Given the description of an element on the screen output the (x, y) to click on. 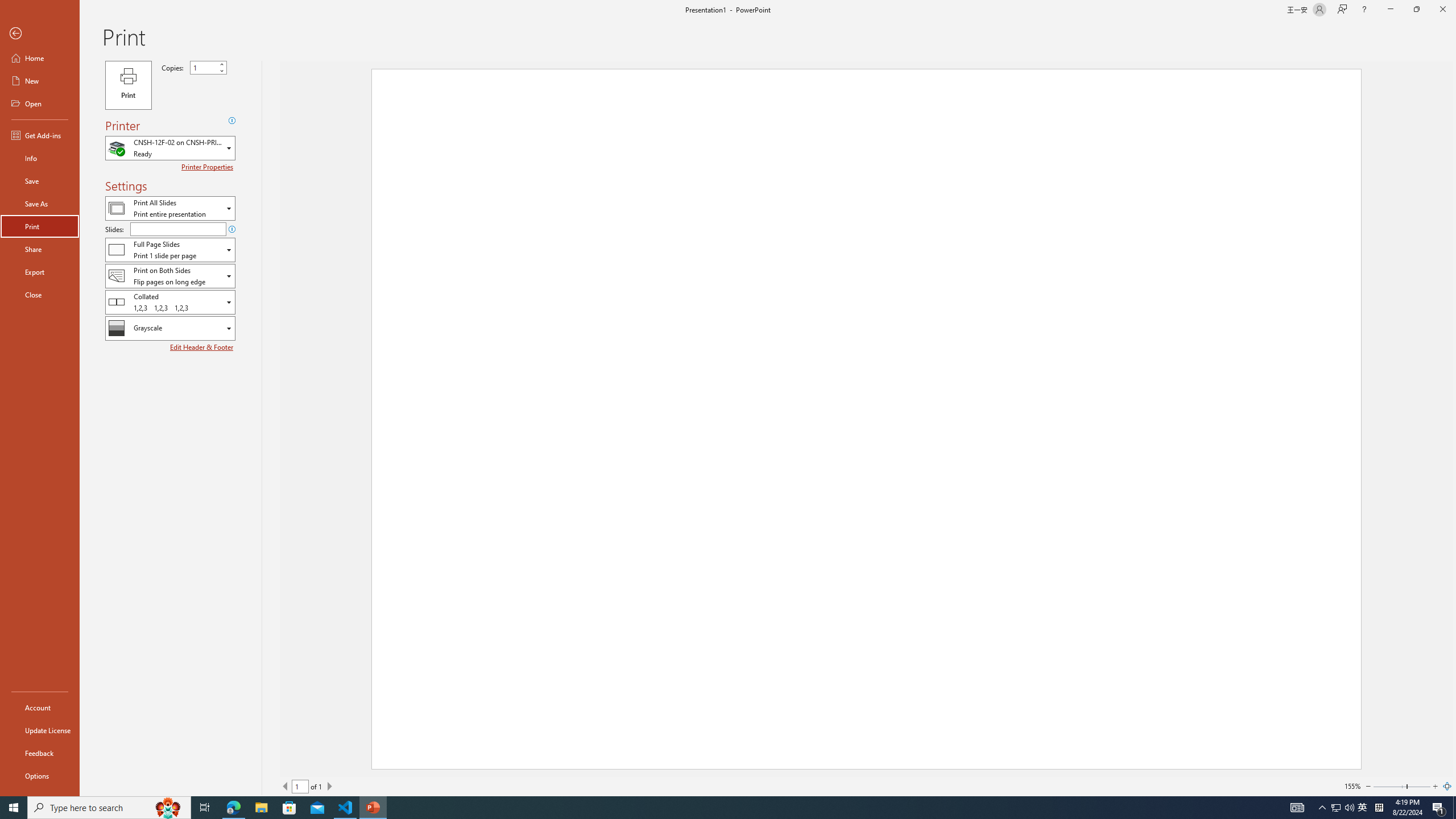
Two-Sided Printing (169, 275)
Slides and Handouts (169, 249)
